Given the description of an element on the screen output the (x, y) to click on. 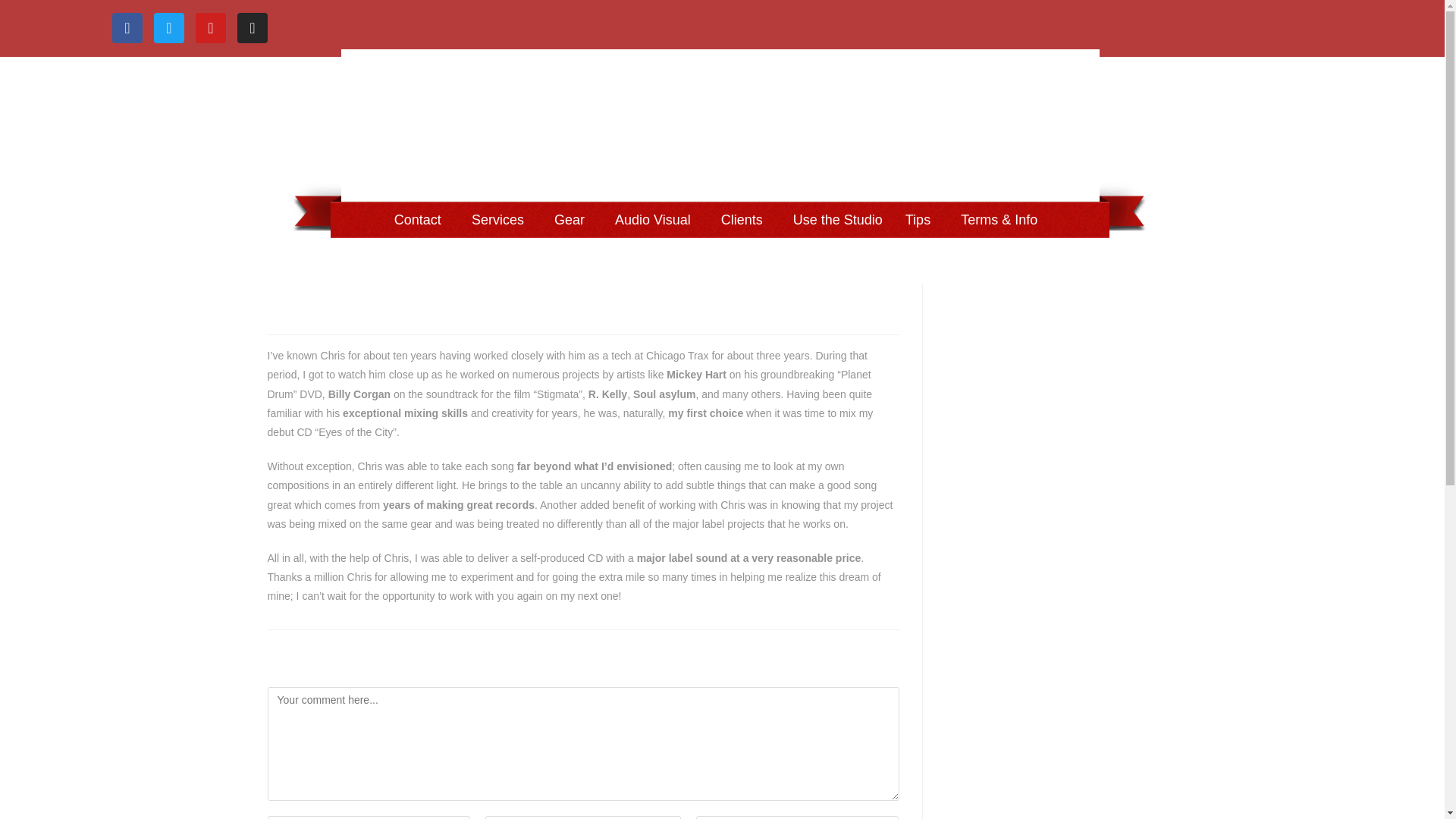
Contact (421, 219)
Clients (745, 219)
Use the Studio (837, 219)
Gear (573, 219)
Tips (921, 219)
Services (501, 219)
Audio Visual (657, 219)
